Given the description of an element on the screen output the (x, y) to click on. 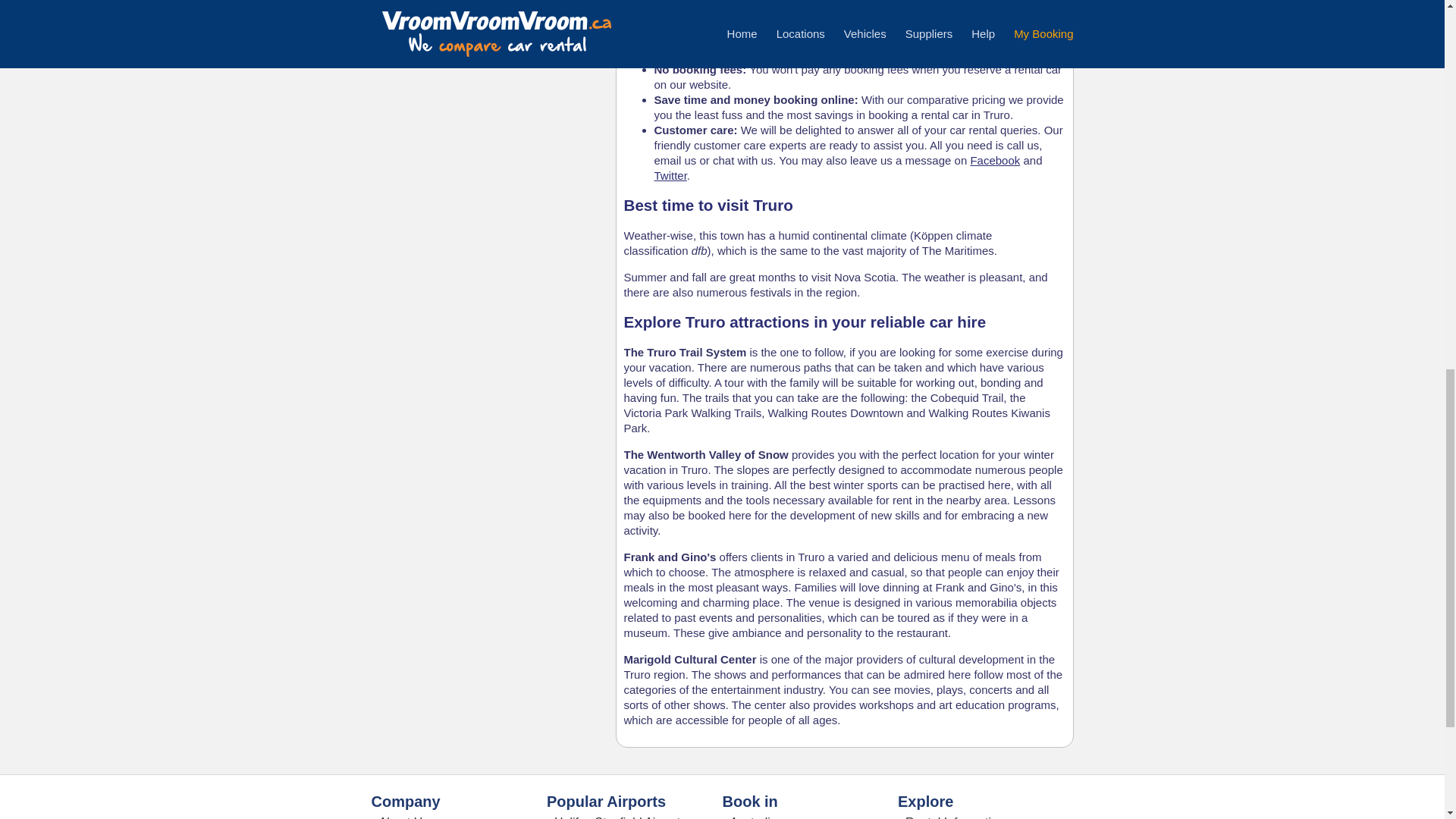
Yarmouth (415, 47)
Dartmouth (417, 14)
North Sydney (425, 2)
New Minas (418, 31)
